Given the description of an element on the screen output the (x, y) to click on. 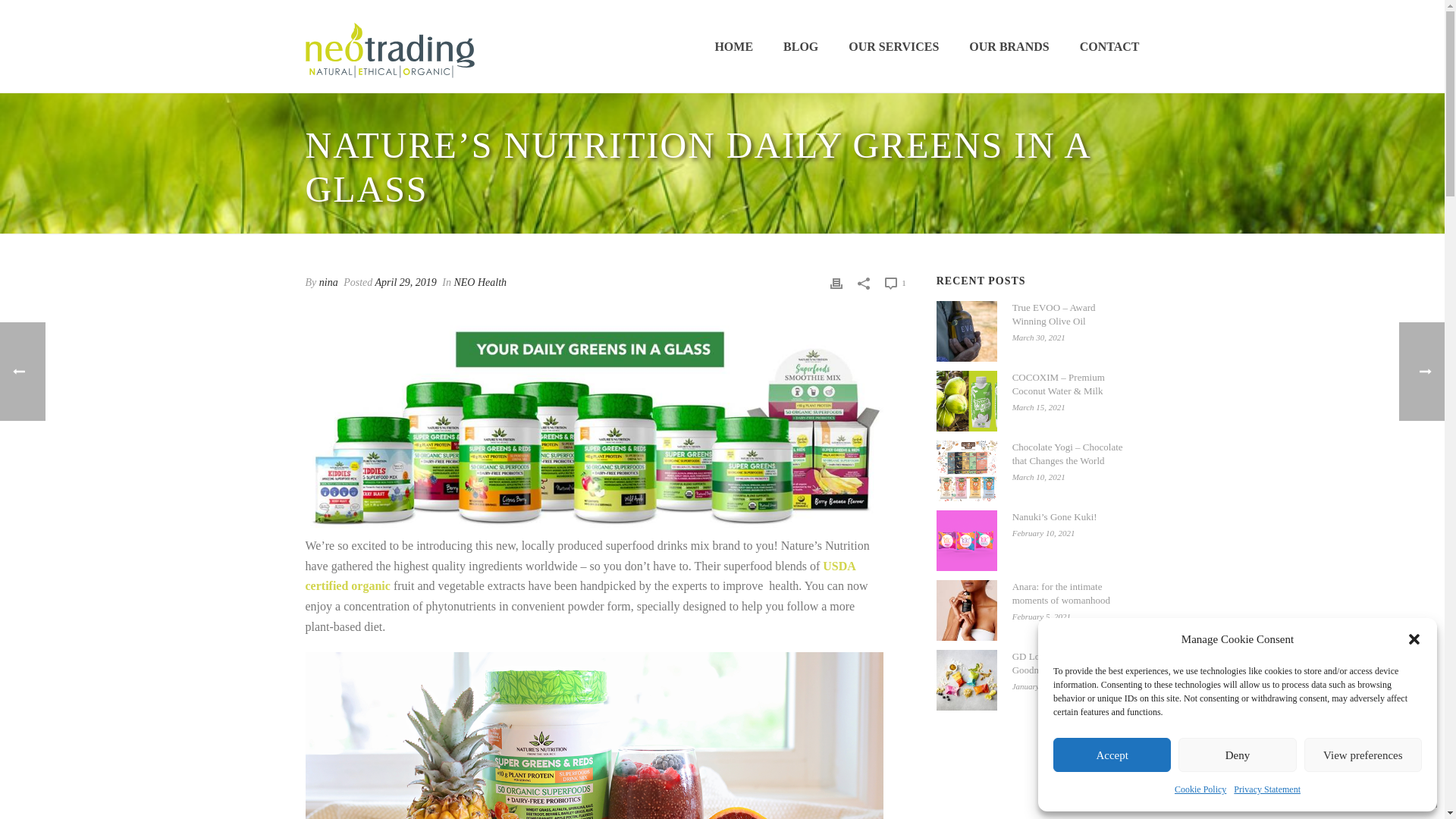
April 29, 2019 (405, 282)
View preferences (1363, 754)
CONTACT (1109, 46)
Privacy Statement (1266, 789)
OUR BRANDS (1008, 46)
NEO Health (479, 282)
GD Logs Loaded with Goodness! (966, 680)
Posts by nina (327, 282)
Deny (1236, 754)
1 (895, 282)
BLOG (800, 46)
OUR SERVICES (892, 46)
HOME (733, 46)
HOME (733, 46)
OUR SERVICES (892, 46)
